Given the description of an element on the screen output the (x, y) to click on. 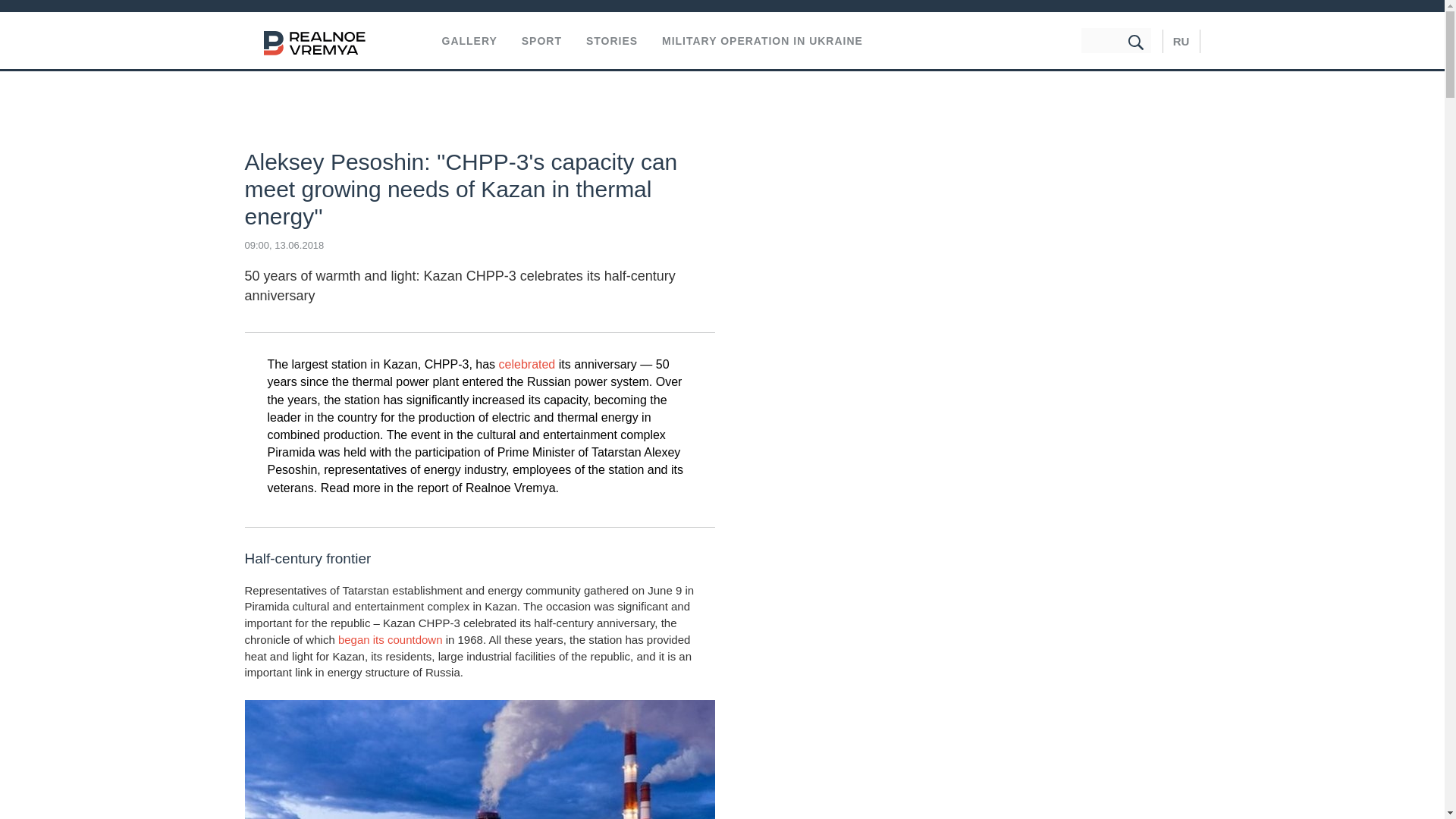
RU (1181, 41)
09:00, 13.06.2018 (283, 244)
began its countdown (389, 639)
MILITARY OPERATION IN UKRAINE (762, 40)
GALLERY (468, 40)
SPORT (541, 40)
STORIES (611, 40)
celebrated (527, 364)
